Given the description of an element on the screen output the (x, y) to click on. 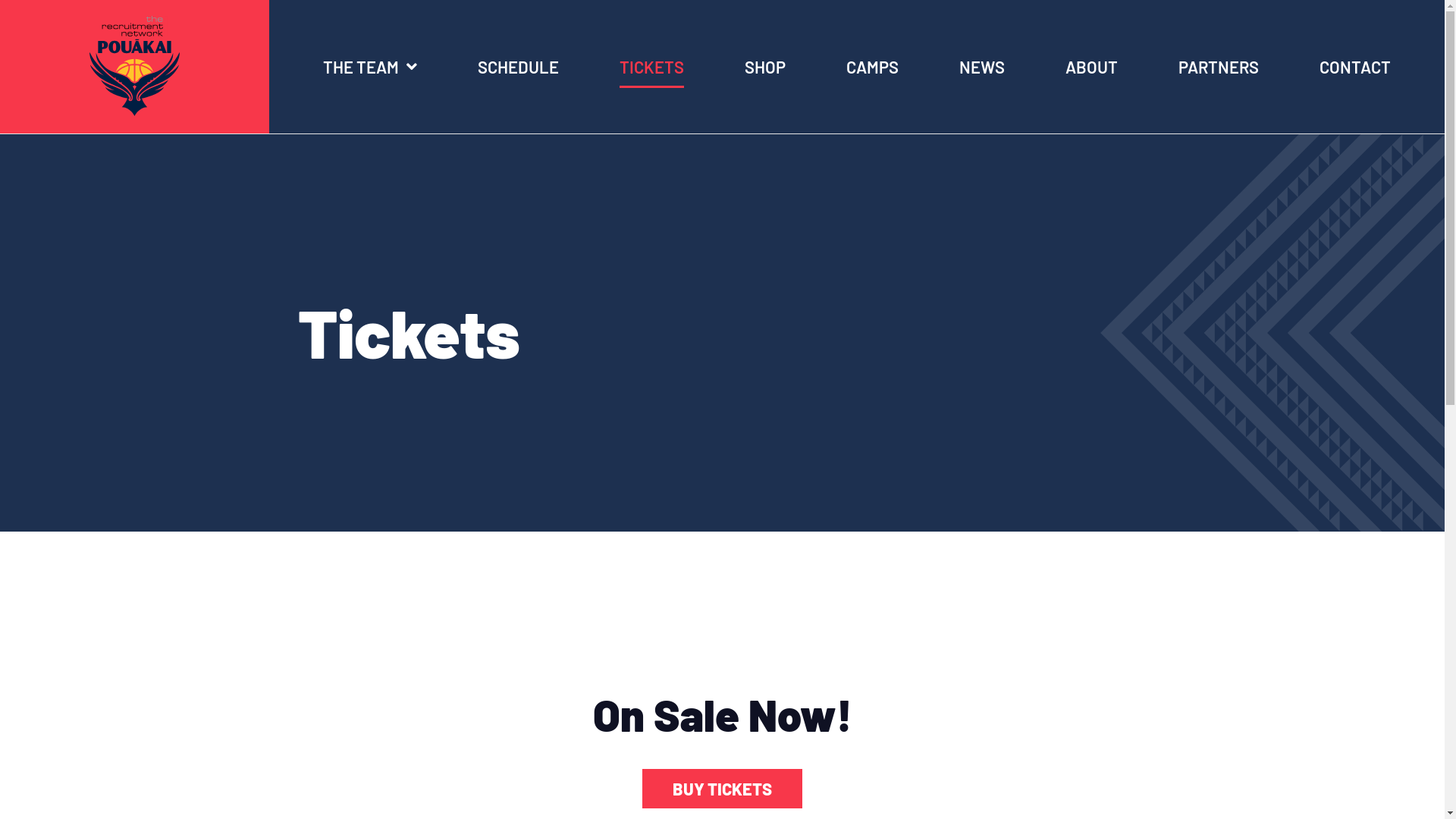
THE TEAM Element type: text (370, 66)
ABOUT Element type: text (1091, 66)
SCHEDULE Element type: text (517, 66)
CONTACT Element type: text (1354, 66)
CAMPS Element type: text (872, 66)
NEWS Element type: text (981, 66)
PARTNERS Element type: text (1218, 66)
TICKETS Element type: text (651, 66)
SHOP Element type: text (764, 66)
BUY TICKETS Element type: text (722, 788)
